Given the description of an element on the screen output the (x, y) to click on. 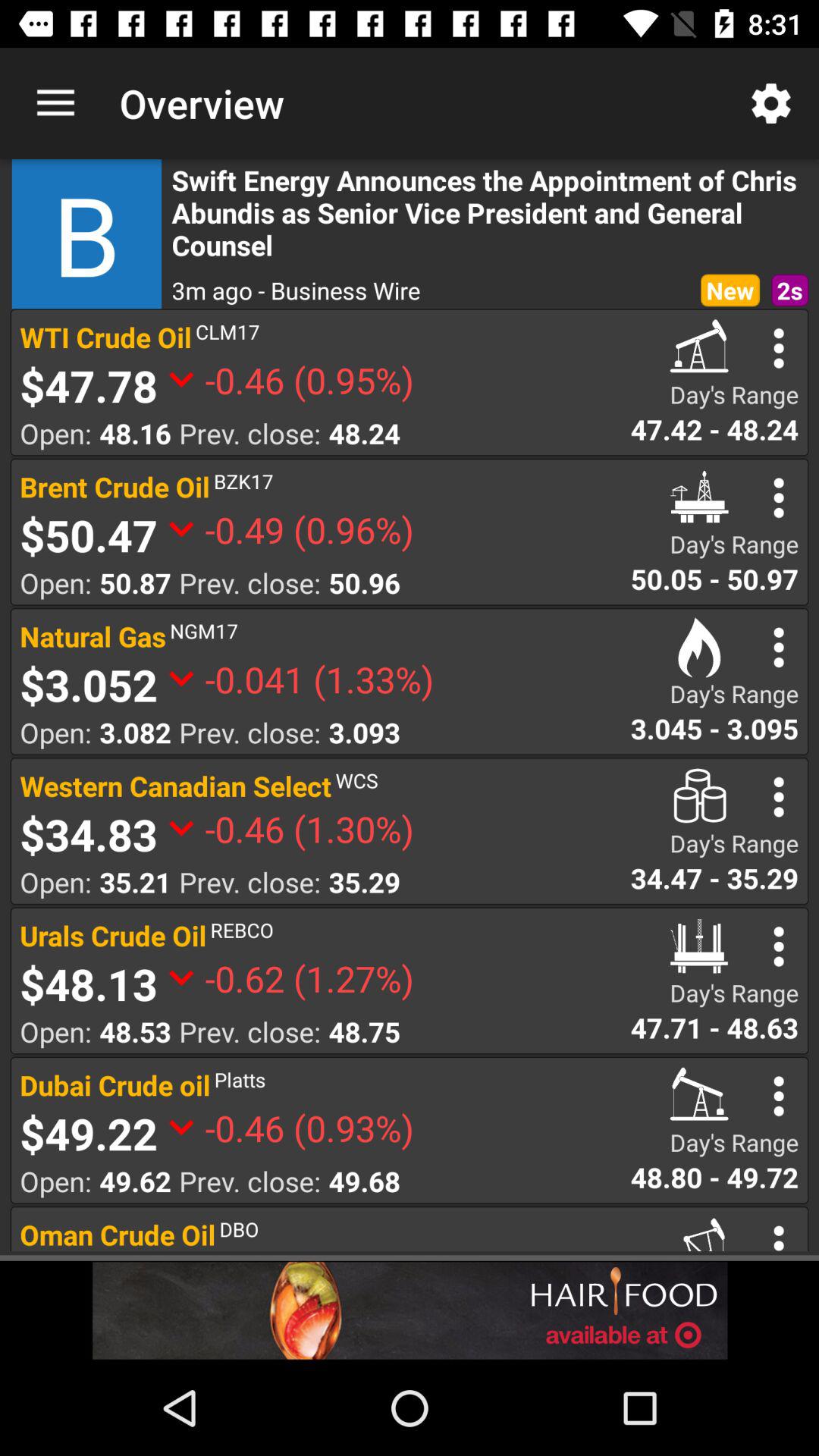
expand menu (778, 946)
